Given the description of an element on the screen output the (x, y) to click on. 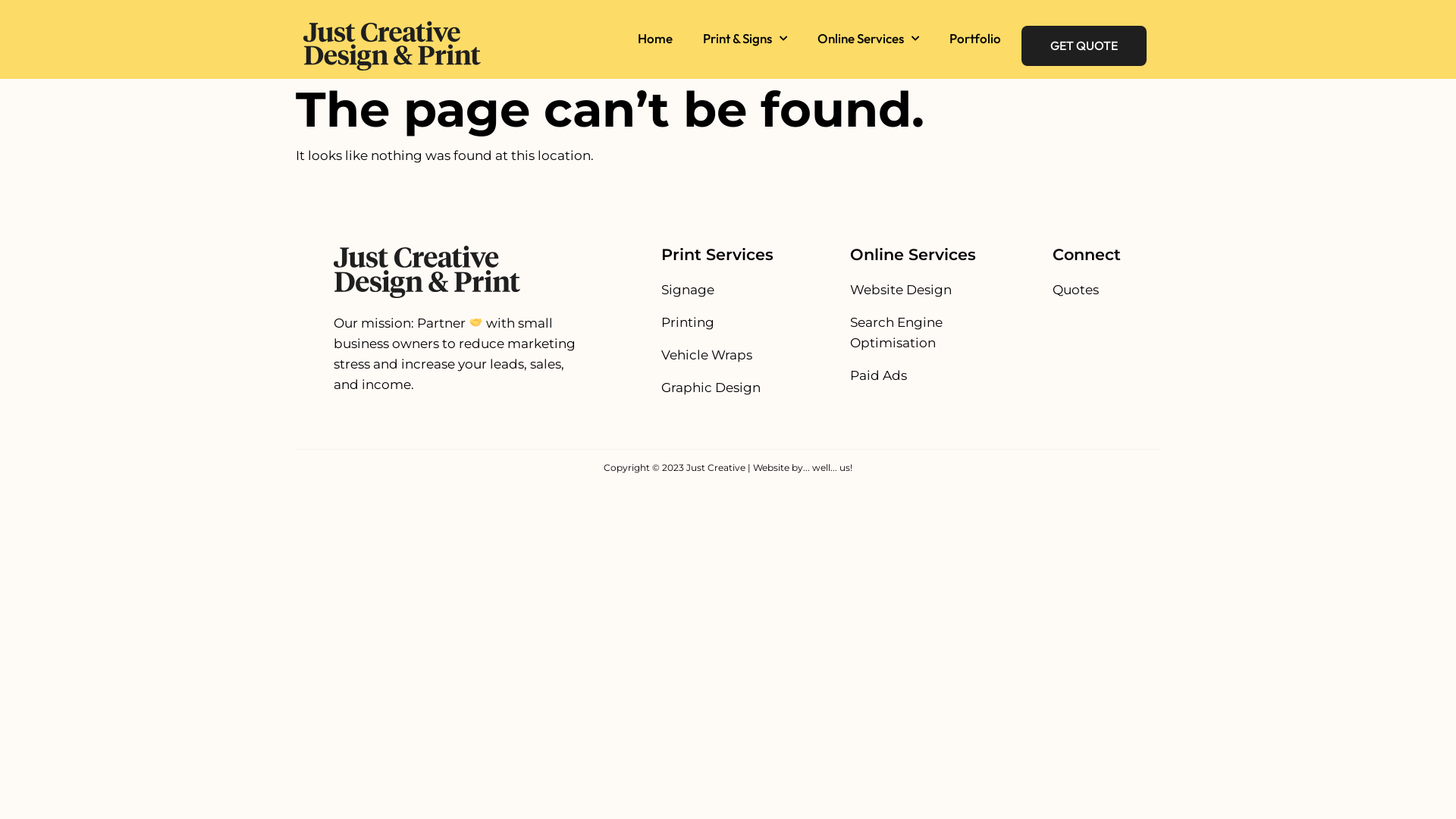
Paid Ads Element type: text (913, 375)
Vehicle Wraps Element type: text (710, 355)
Search Engine Optimisation Element type: text (913, 332)
Website Design Element type: text (913, 289)
Home Element type: text (654, 38)
Print & Signs Element type: text (744, 38)
Printing Element type: text (710, 322)
Quotes Element type: text (1075, 289)
Online Services Element type: text (868, 38)
GET QUOTE Element type: text (1083, 45)
Portfolio Element type: text (975, 38)
Signage Element type: text (710, 289)
Graphic Design Element type: text (710, 387)
